Given the description of an element on the screen output the (x, y) to click on. 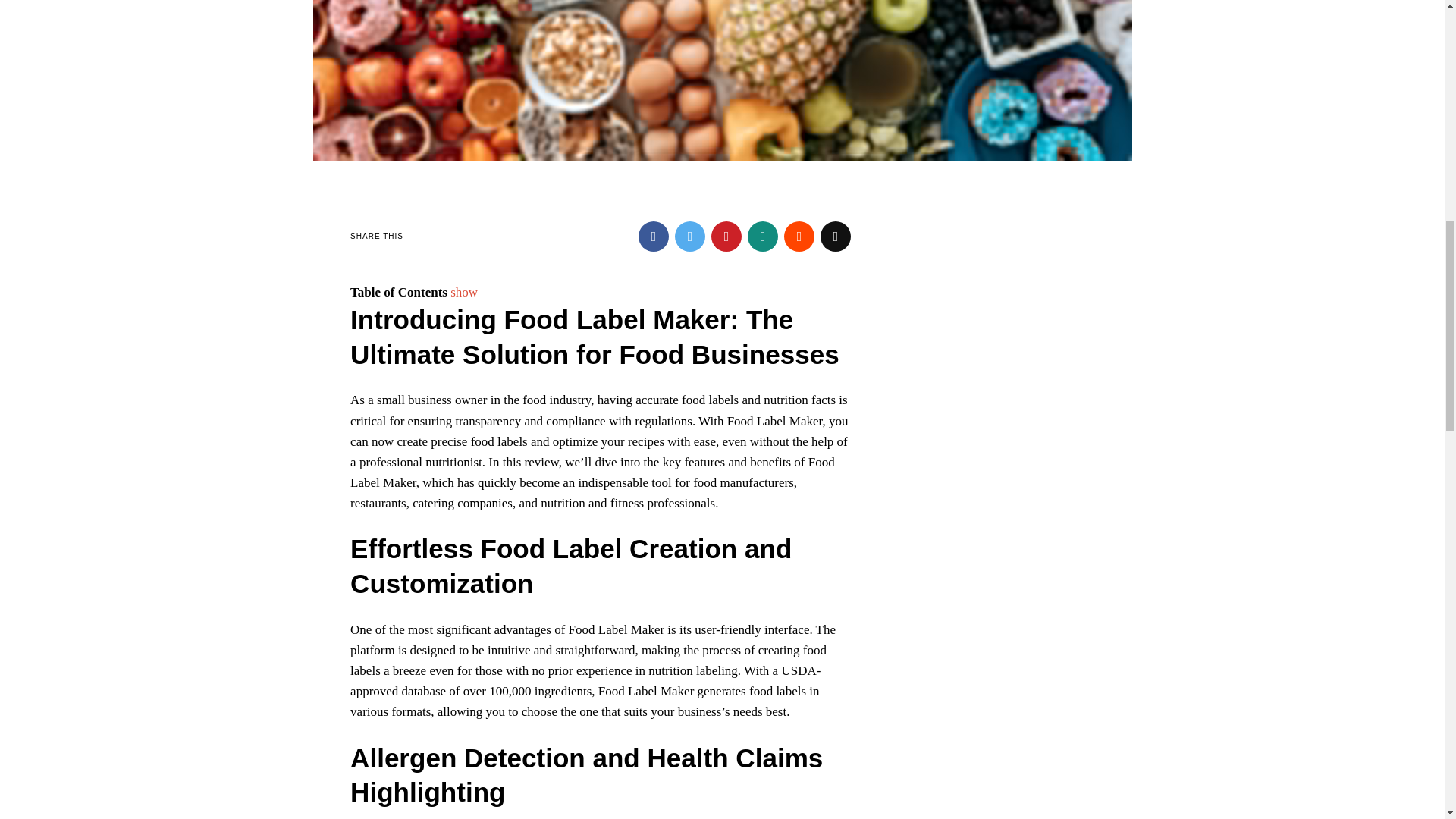
Facebook (653, 236)
Pinterest (726, 236)
Email (835, 236)
Whatsapp (762, 236)
Reddit (798, 236)
Twitter (689, 236)
